Given the description of an element on the screen output the (x, y) to click on. 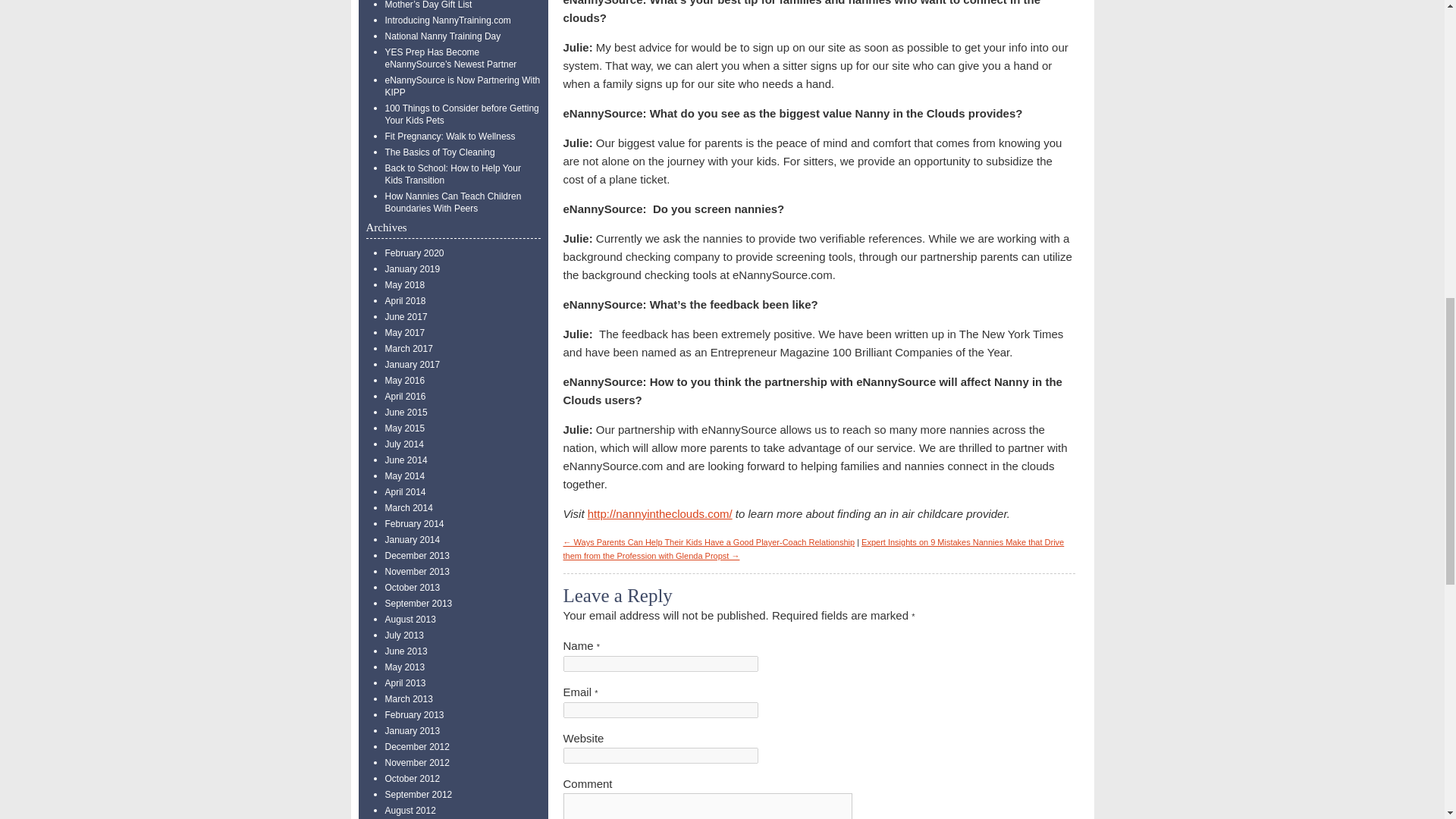
eNannySource is Now Partnering With KIPP (462, 86)
January 2019 (413, 268)
How Nannies Can Teach Children Boundaries With Peers (453, 201)
May 2017 (405, 332)
Back to School: How to Help Your Kids Transition (453, 173)
March 2017 (408, 348)
National Nanny Training Day (442, 36)
June 2017 (406, 317)
The Basics of Toy Cleaning (440, 152)
Introducing NannyTraining.com (448, 20)
